Given the description of an element on the screen output the (x, y) to click on. 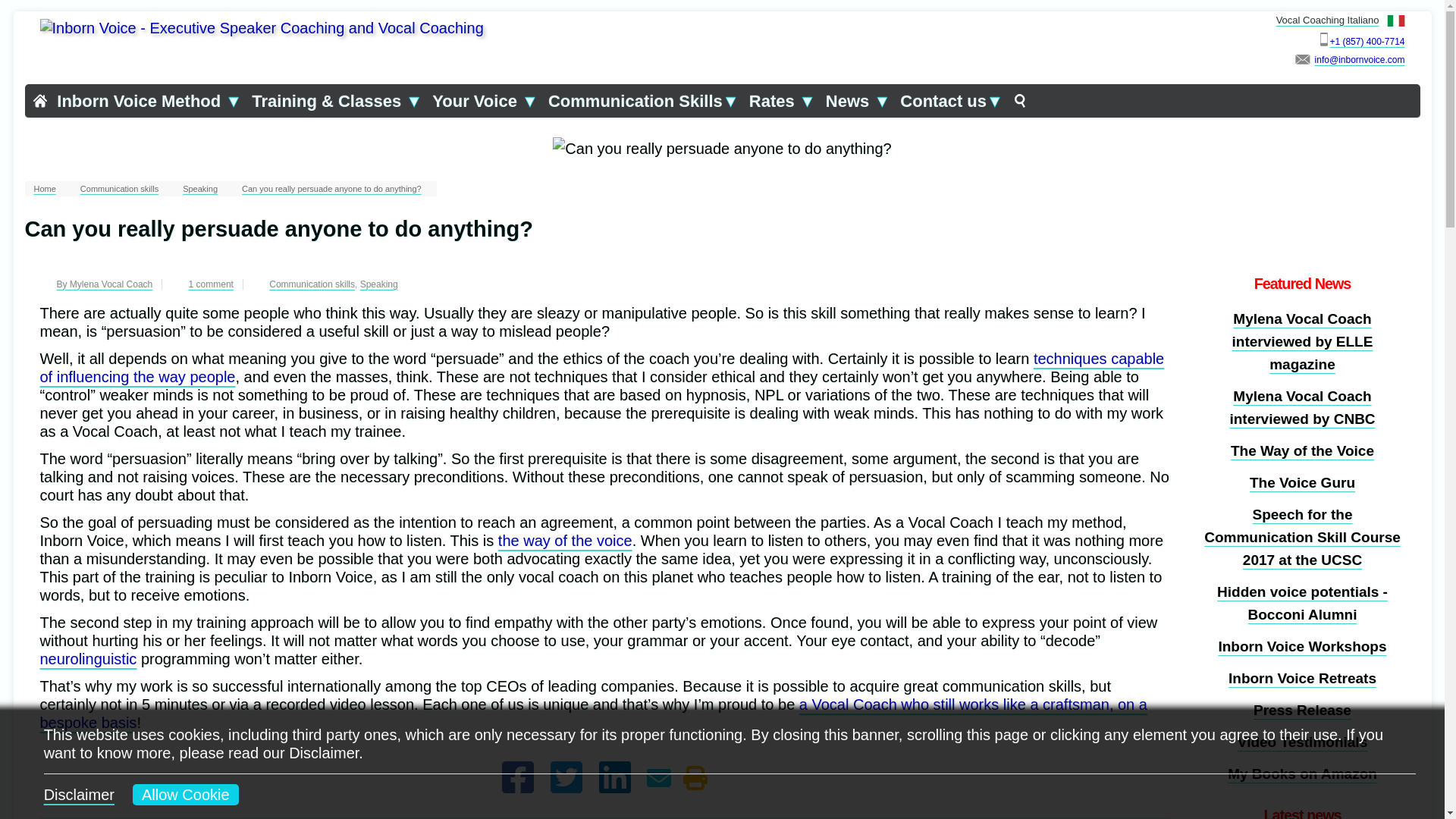
Can you really persuade anyone to do anything? (122, 188)
Vocal Coaching Italiano (1340, 20)
Can you really persuade anyone to do anything? (334, 188)
Can you really persuade anyone to do anything? (202, 188)
info (1359, 59)
